Given the description of an element on the screen output the (x, y) to click on. 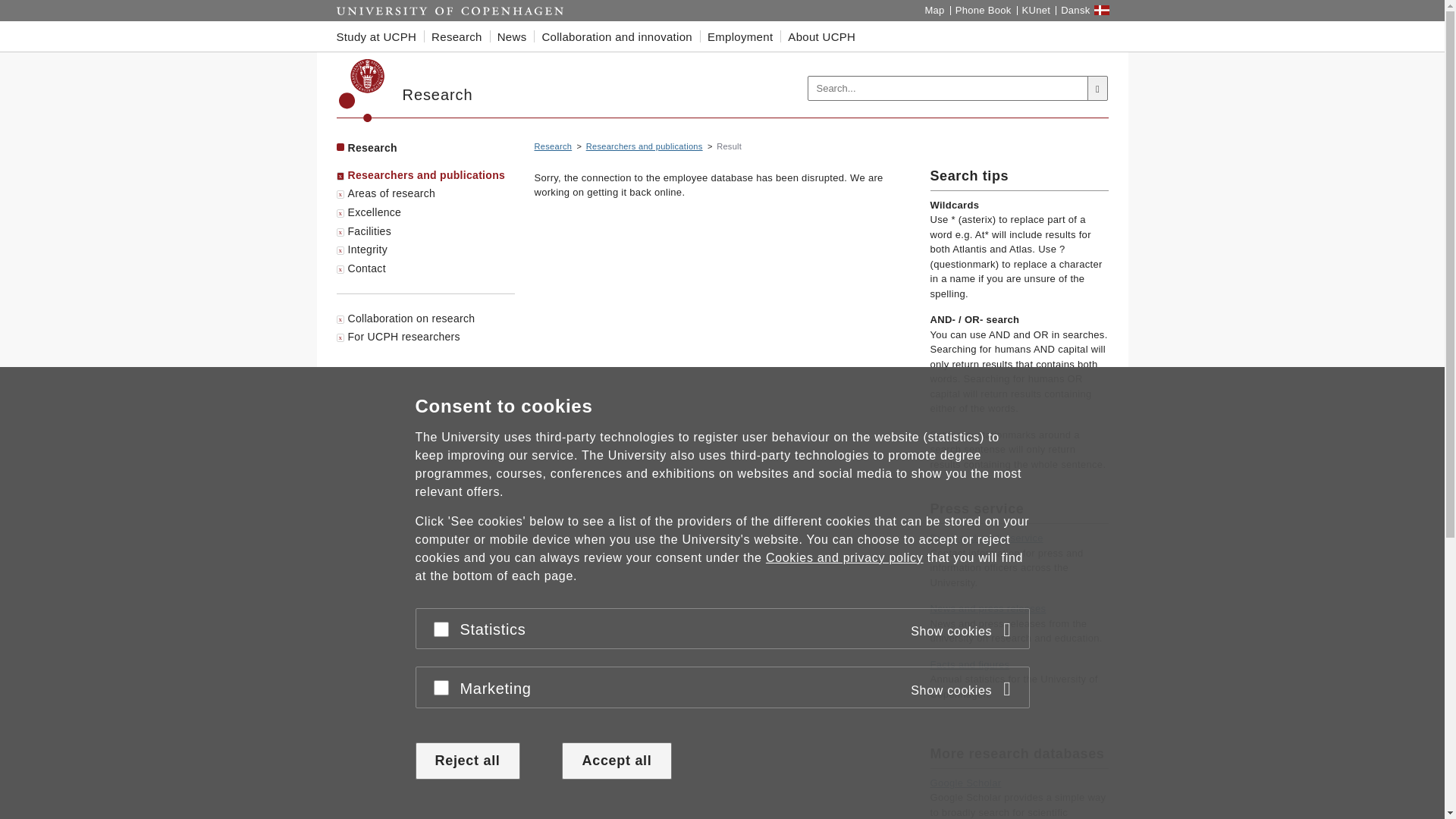
Search researchers and publications (644, 145)
Facts and figures (969, 664)
News site (987, 608)
Start (450, 10)
